Given the description of an element on the screen output the (x, y) to click on. 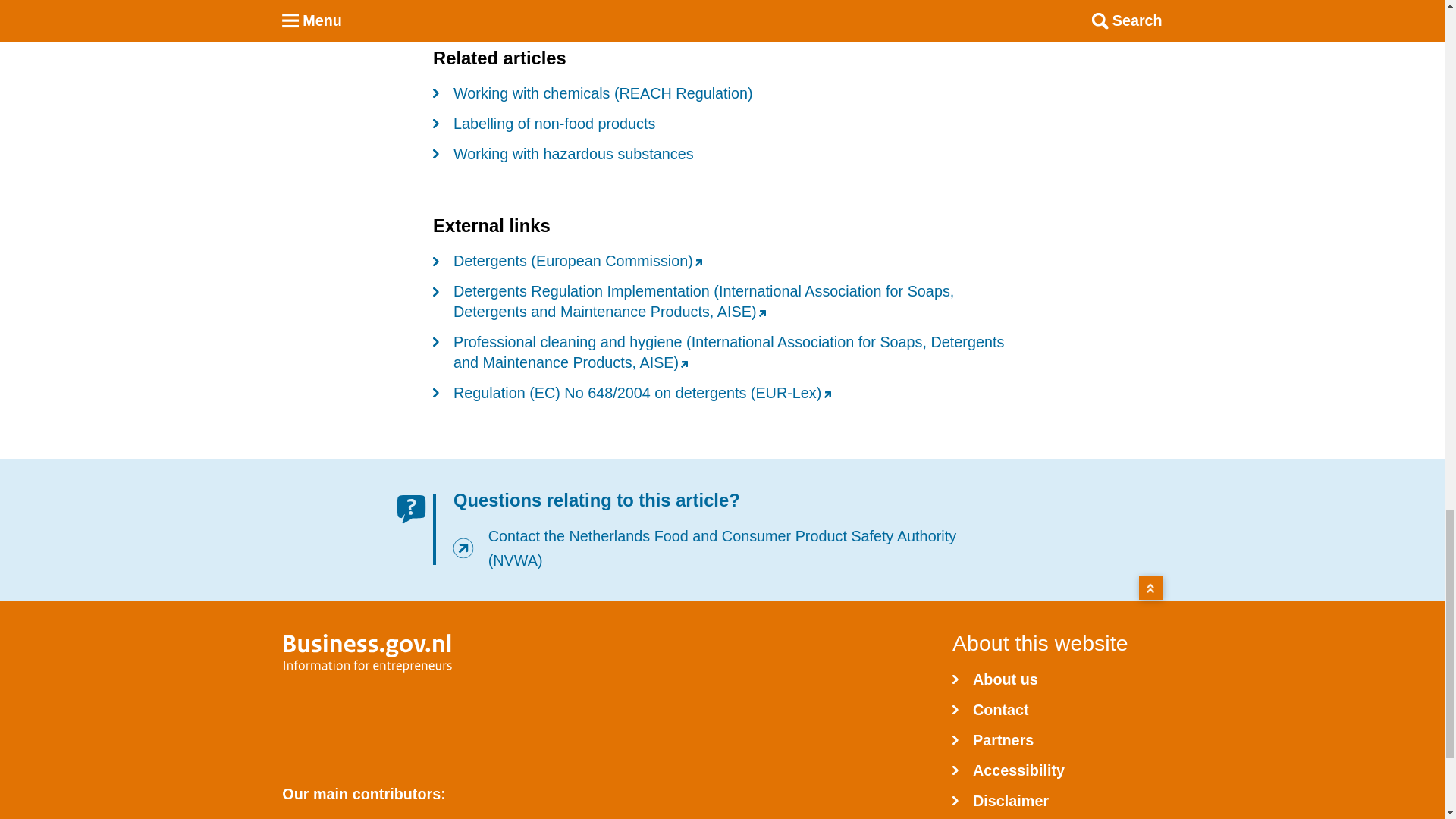
Accessibility (1008, 769)
Contact (990, 709)
Partners (992, 739)
Labelling of non-food products (543, 123)
Disclaimer (1000, 800)
About us (995, 678)
Working with hazardous substances (563, 153)
